Given the description of an element on the screen output the (x, y) to click on. 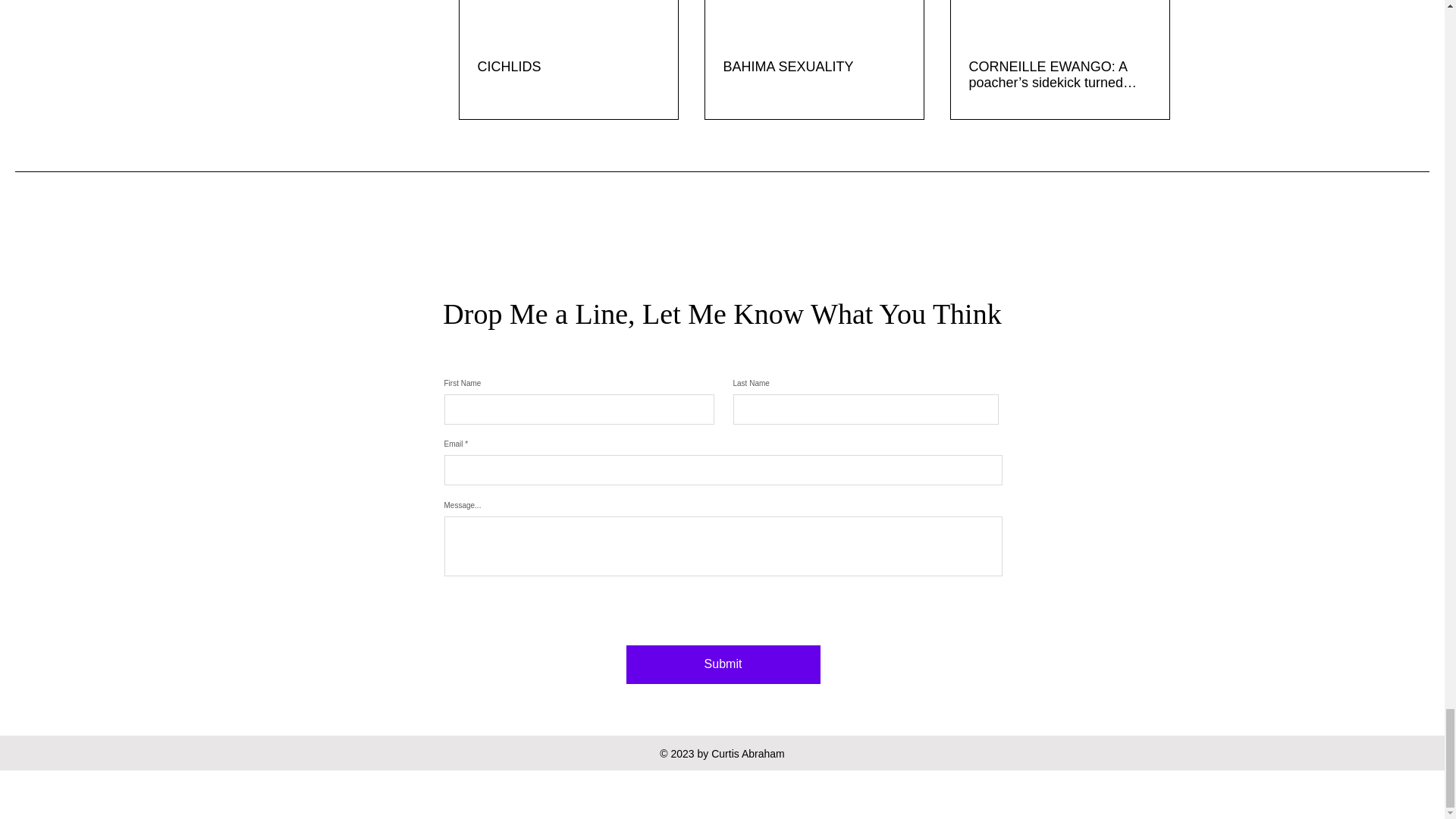
CICHLIDS (568, 66)
BAHIMA SEXUALITY (814, 66)
Submit (723, 664)
